Given the description of an element on the screen output the (x, y) to click on. 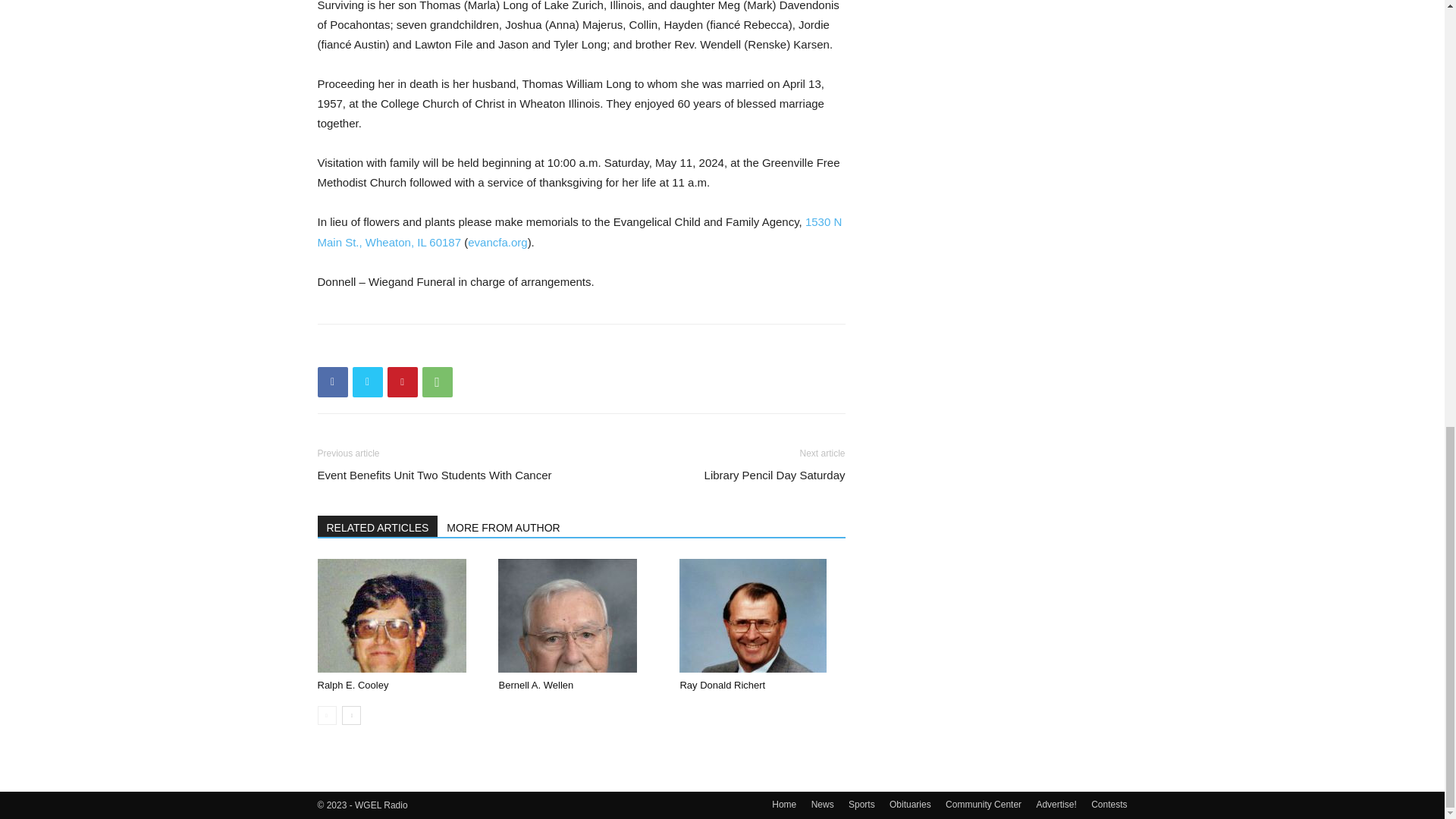
evancfa.org (497, 241)
Pinterest (401, 381)
Twitter (366, 381)
Bernell A. Wellen (580, 615)
Ralph E. Cooley (391, 615)
Ralph E. Cooley (399, 615)
WhatsApp (436, 381)
bottomFacebookLike (430, 348)
Ralph E. Cooley (352, 685)
1530 N Main St., Wheaton, IL 60187 (579, 231)
Bernell A. Wellen (535, 685)
Facebook (332, 381)
Bernell A. Wellen (567, 615)
